Given the description of an element on the screen output the (x, y) to click on. 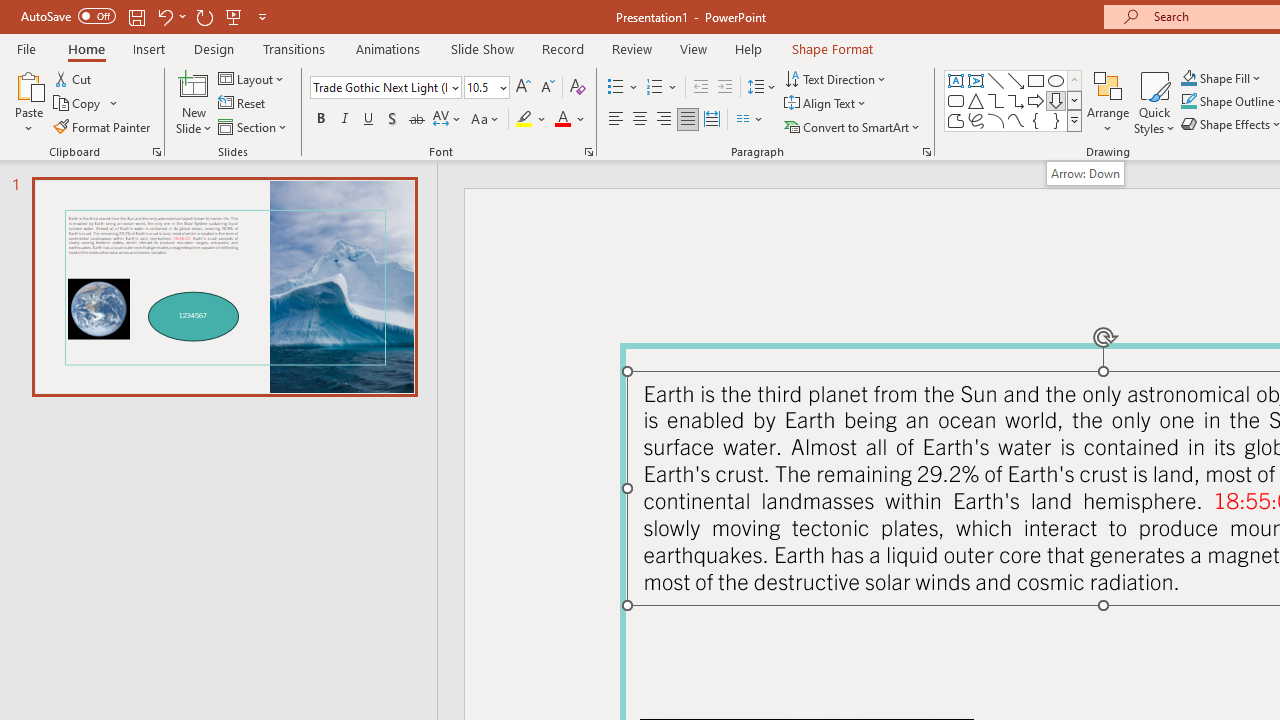
Shape Fill Aqua, Accent 2 (1188, 78)
